Given the description of an element on the screen output the (x, y) to click on. 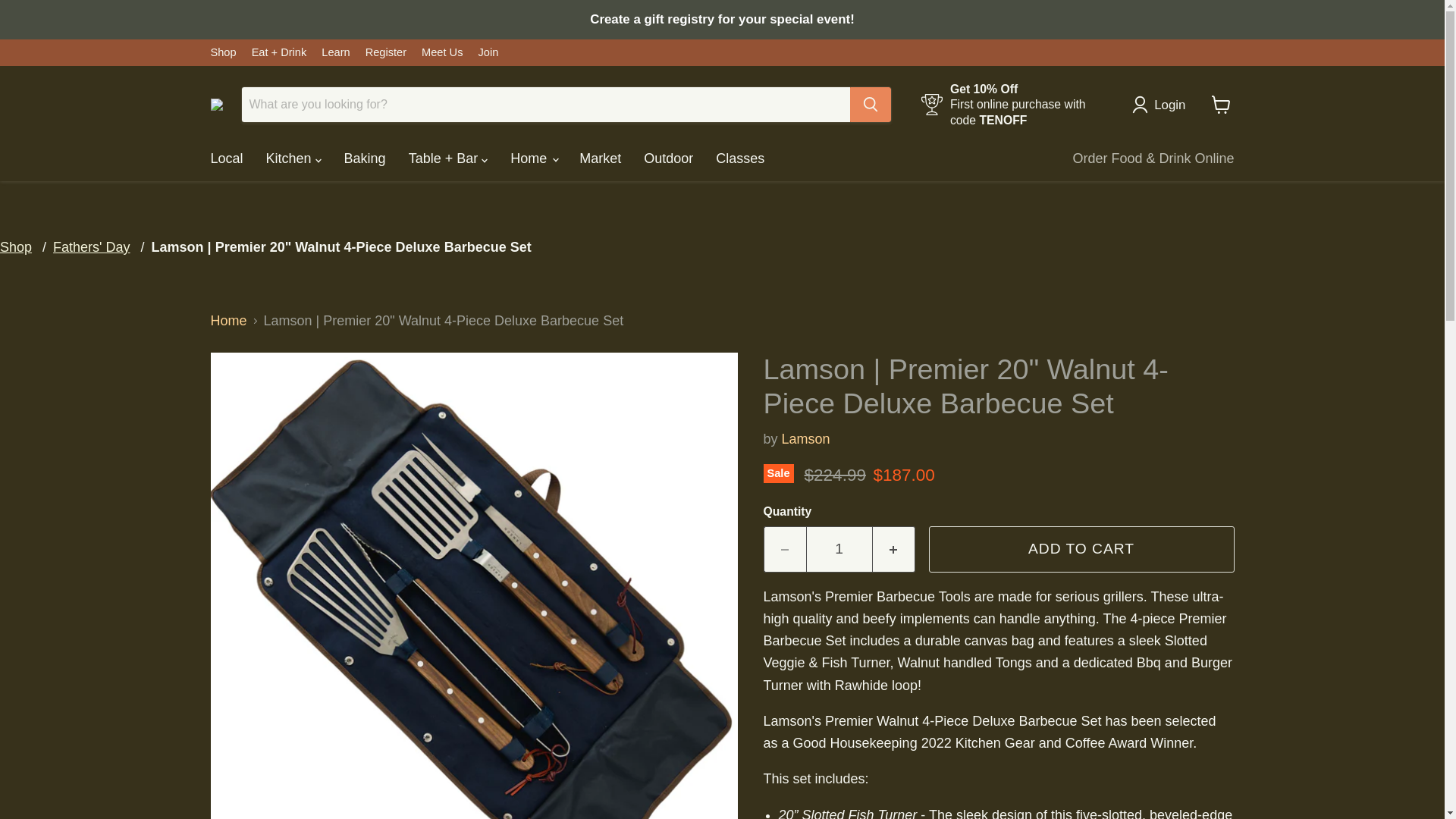
Login (1162, 104)
Shop (16, 246)
Local (225, 158)
1 (838, 548)
Join (487, 51)
Learn (335, 51)
View cart (1221, 104)
Shop (223, 51)
Lamson (805, 438)
Register (385, 51)
Meet Us (442, 51)
